Given the description of an element on the screen output the (x, y) to click on. 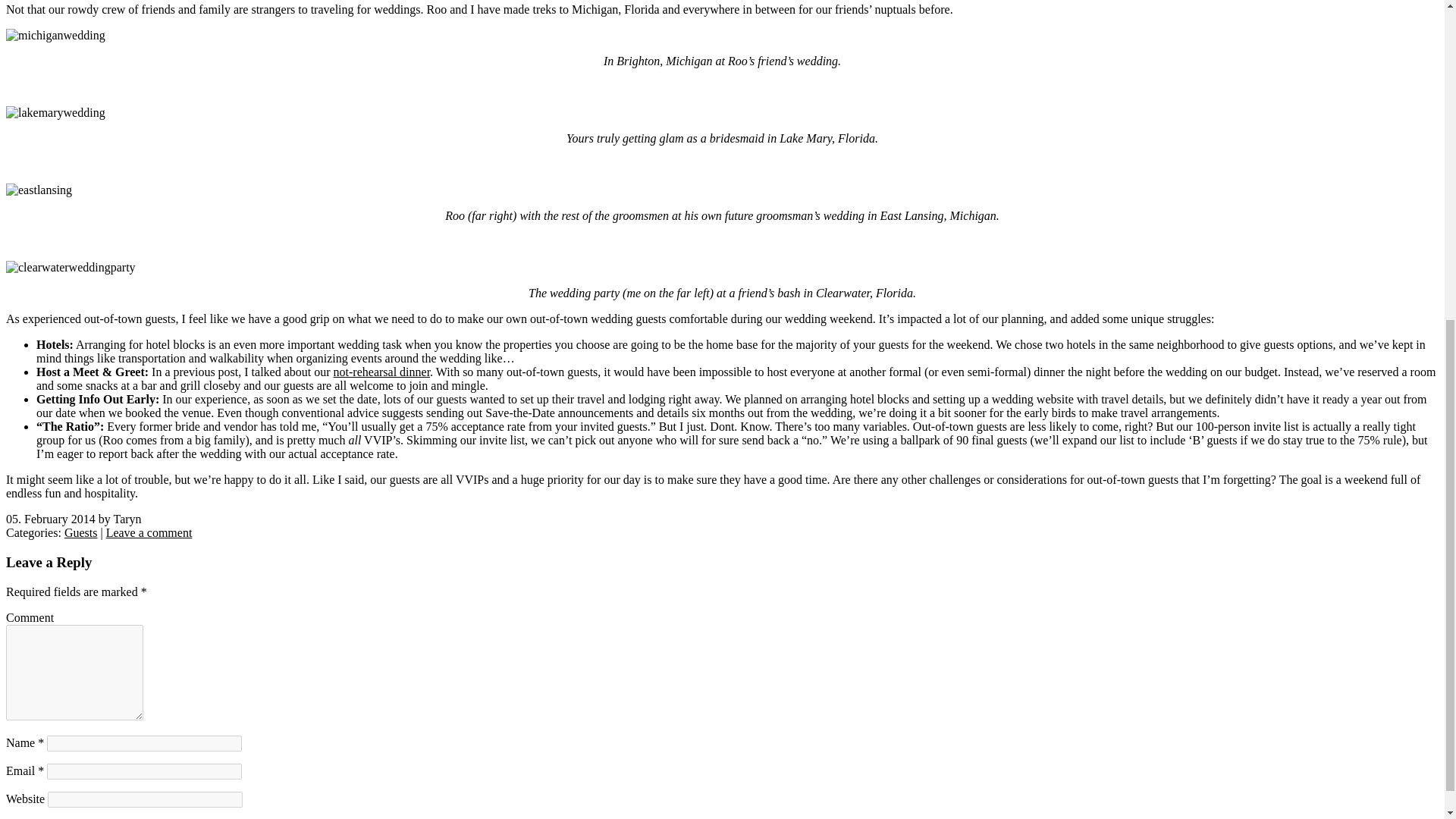
A Not-Rehearsal Dinner (381, 371)
Guests (80, 532)
Leave a comment (149, 532)
not-rehearsal dinner (381, 371)
